Given the description of an element on the screen output the (x, y) to click on. 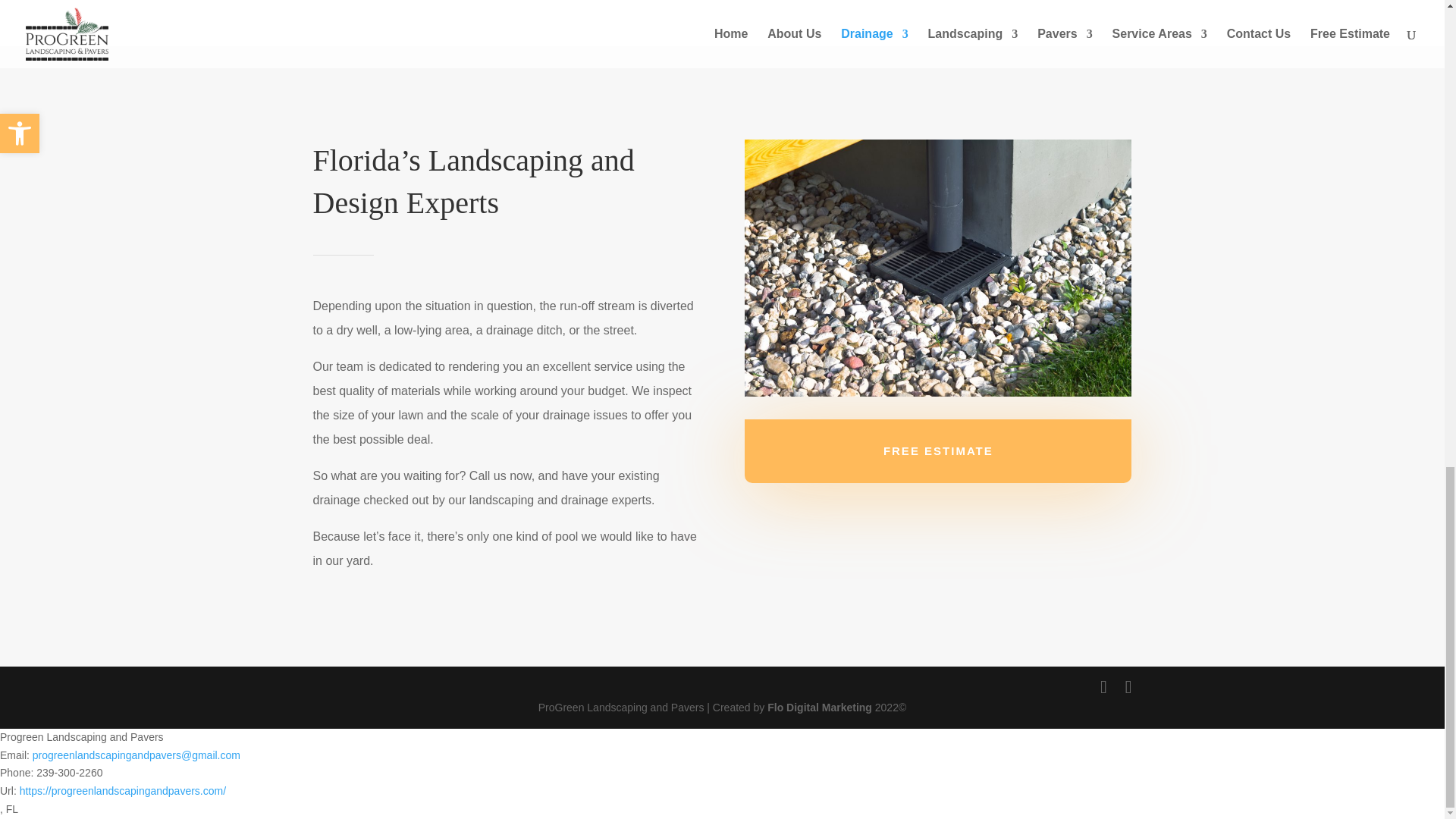
french-drain-box (937, 268)
